Given the description of an element on the screen output the (x, y) to click on. 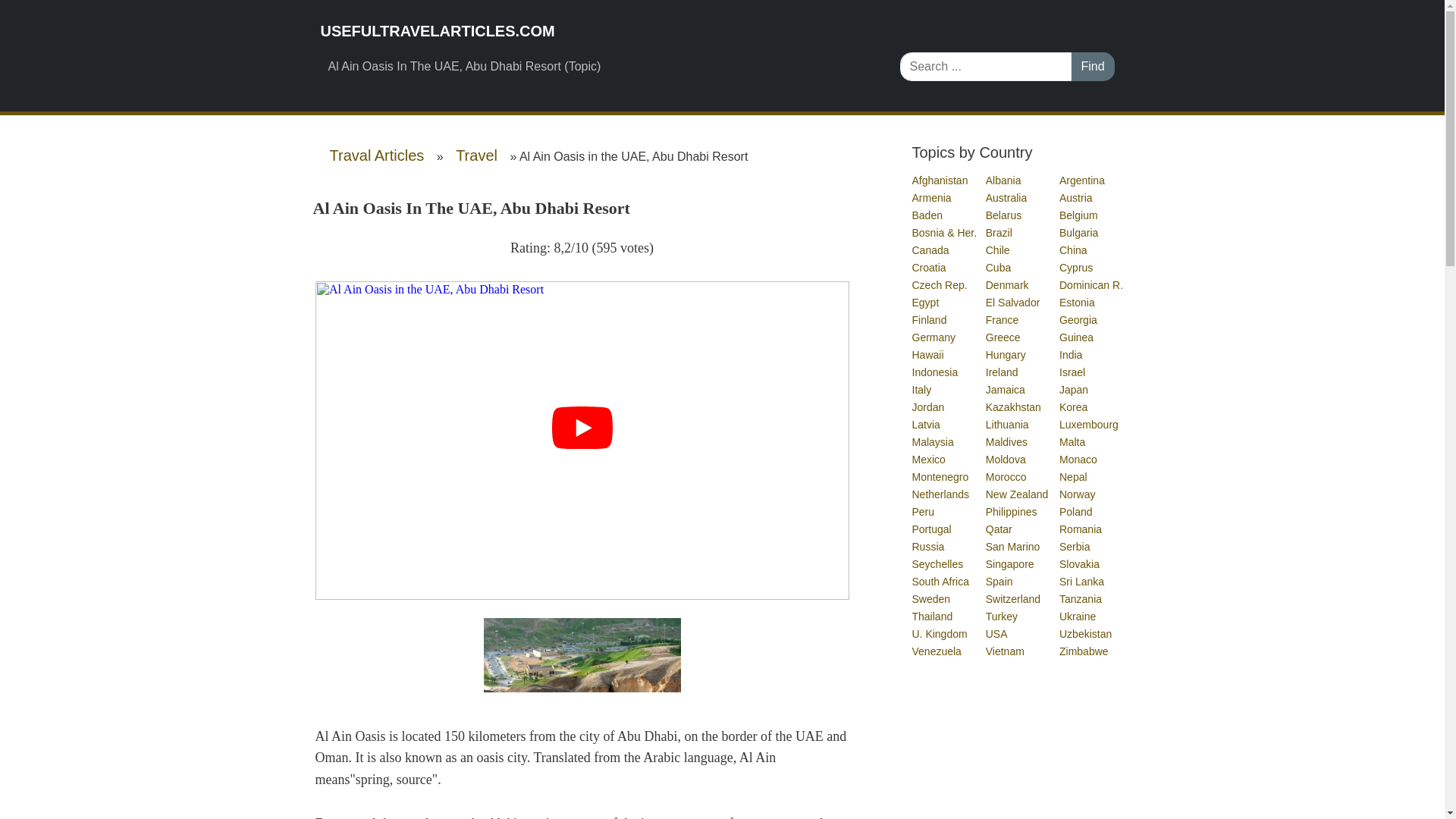
Germany (933, 337)
El Salvador (1013, 302)
Bulgaria (1079, 232)
Greece (1003, 337)
Find (1091, 66)
Denmark (1007, 285)
USEFULTRAVELARTICLES.COM (598, 31)
Australia (1006, 197)
Afghanistan (940, 180)
Dominican R. (1091, 285)
